Given the description of an element on the screen output the (x, y) to click on. 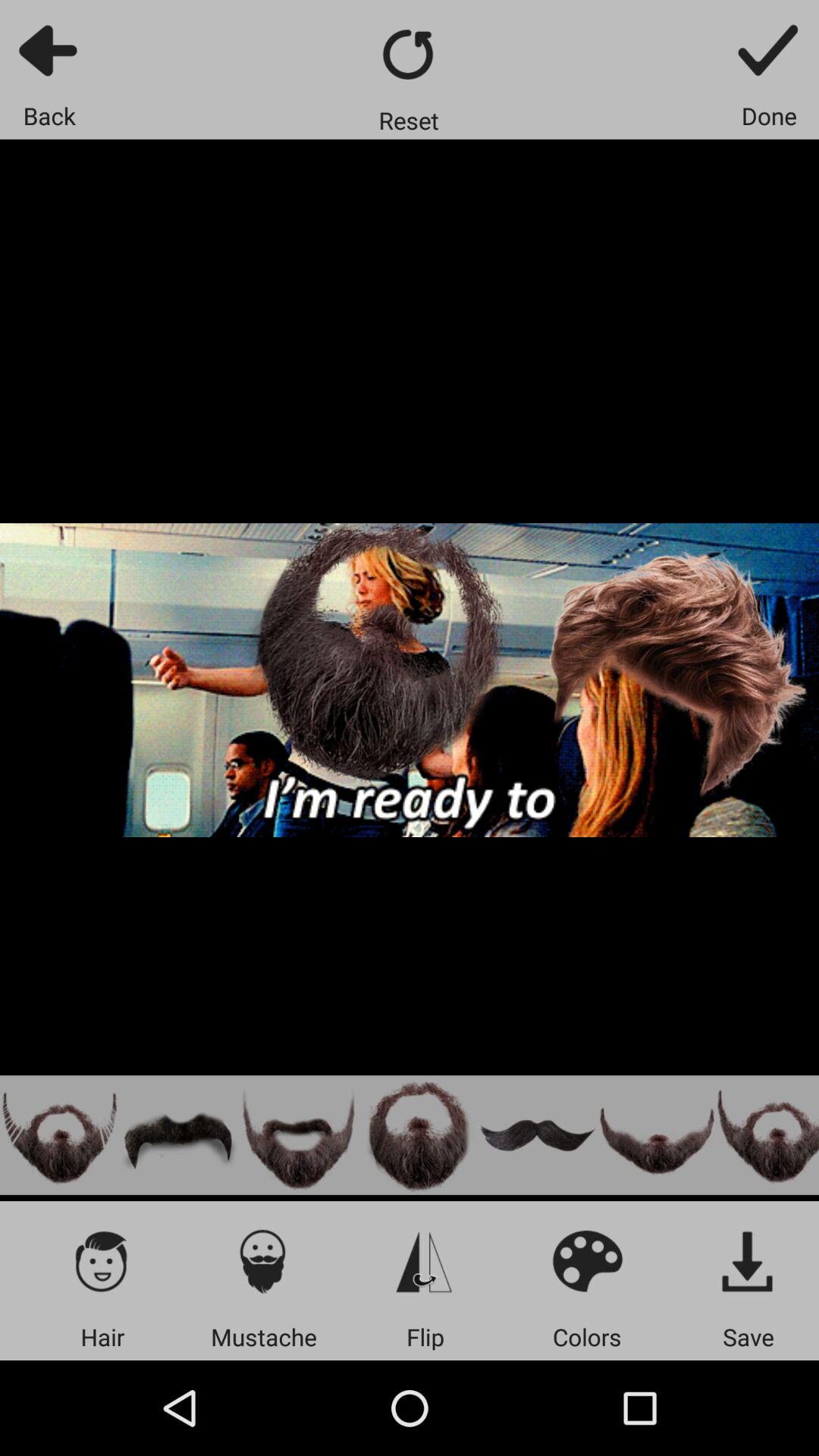
photo edit insert item (417, 1134)
